Given the description of an element on the screen output the (x, y) to click on. 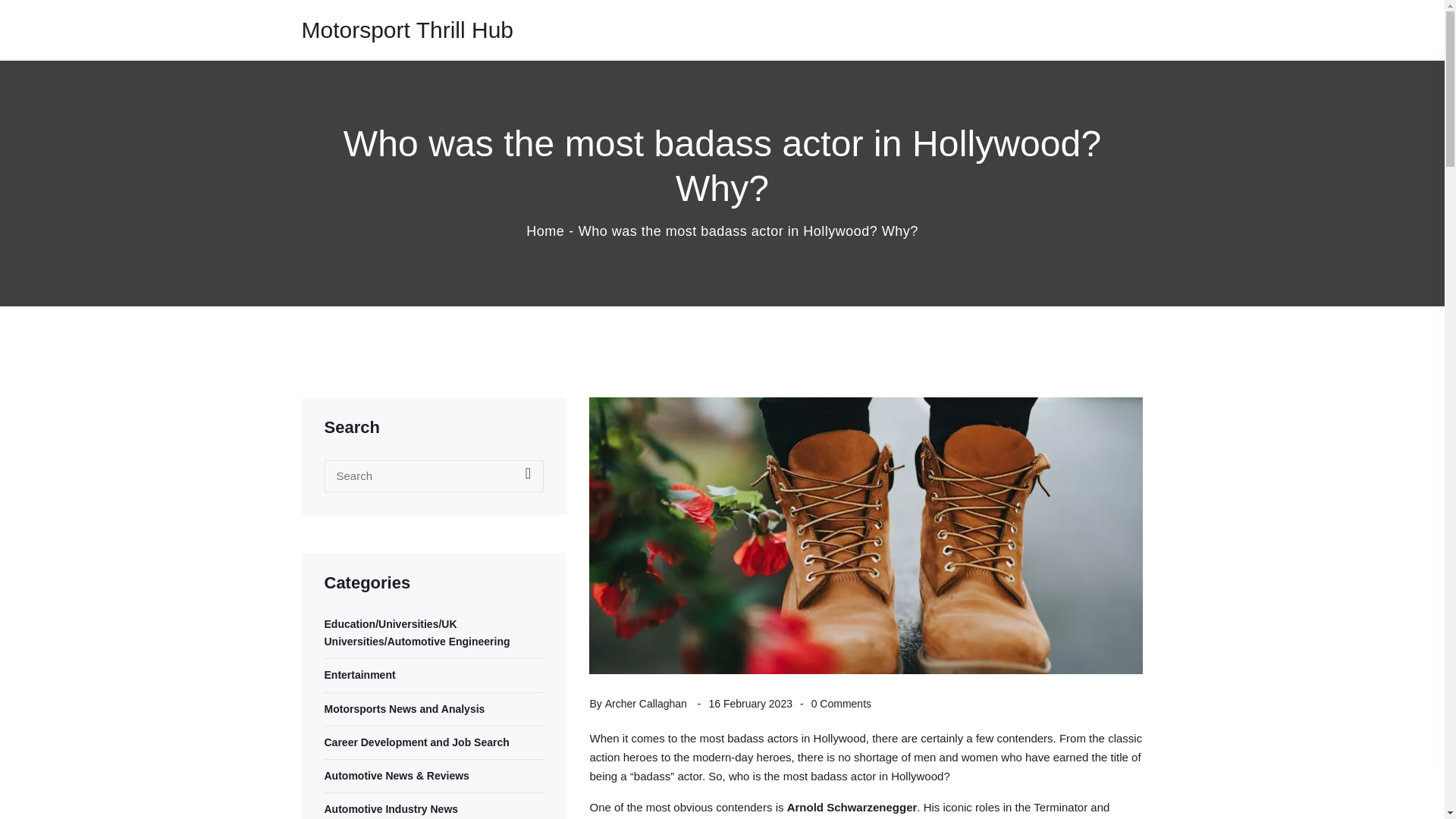
Career Development and Job Search (434, 742)
Motorsport Thrill Hub (407, 30)
Entertainment (434, 674)
Archer Callaghan (646, 703)
Motorsports News and Analysis (434, 709)
Automotive Industry News (434, 809)
Home (544, 231)
